Given the description of an element on the screen output the (x, y) to click on. 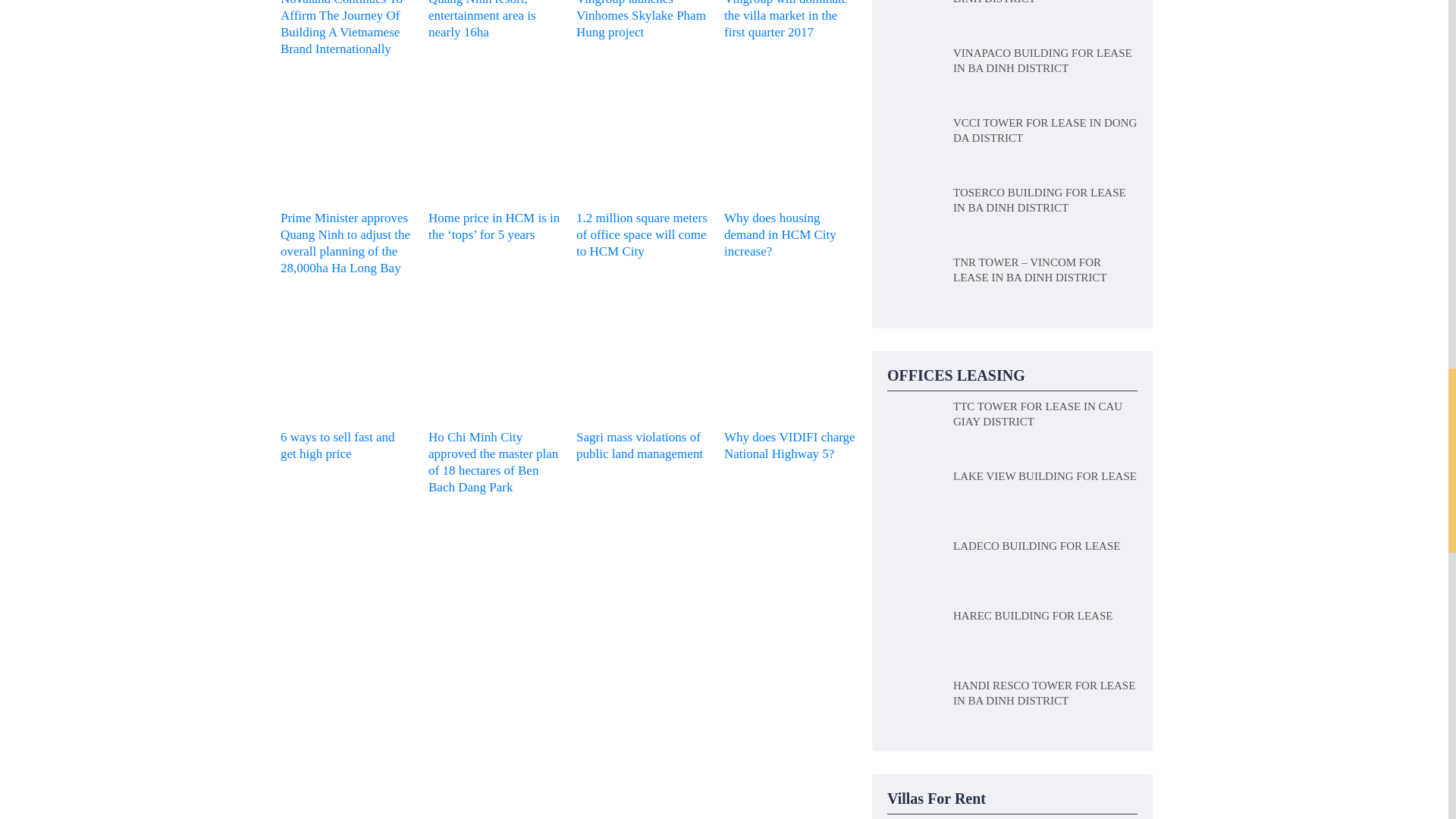
Vingroup launches Vinhomes Skylake Pham Hung project (642, 20)
Quang Ninh resort, entertainment area is nearly 16ha (494, 20)
